Given the description of an element on the screen output the (x, y) to click on. 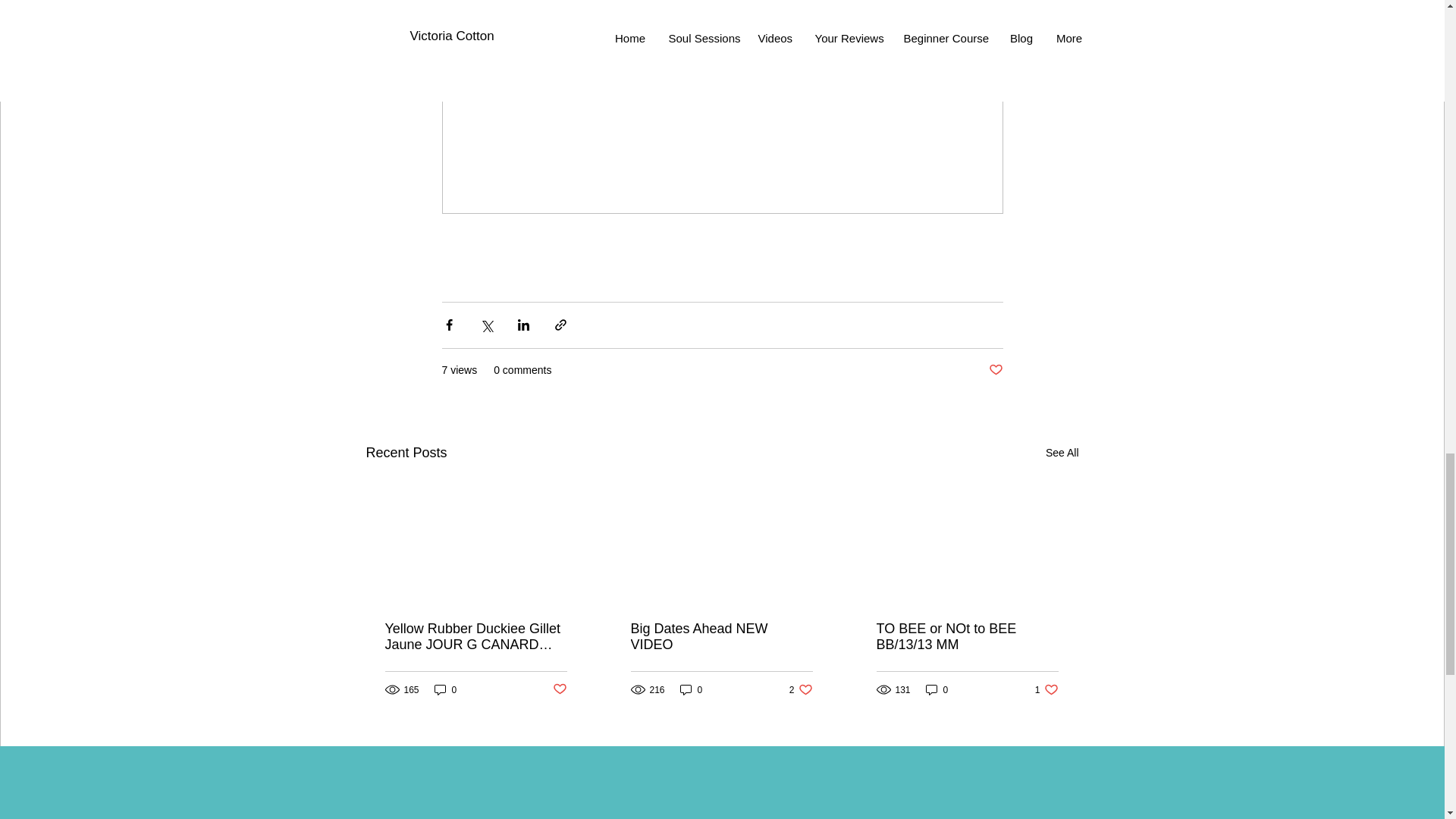
Post not marked as liked (558, 689)
0 (800, 689)
Big Dates Ahead NEW VIDEO (691, 689)
See All (721, 636)
Post not marked as liked (1061, 453)
0 (995, 370)
0 (1046, 689)
